Given the description of an element on the screen output the (x, y) to click on. 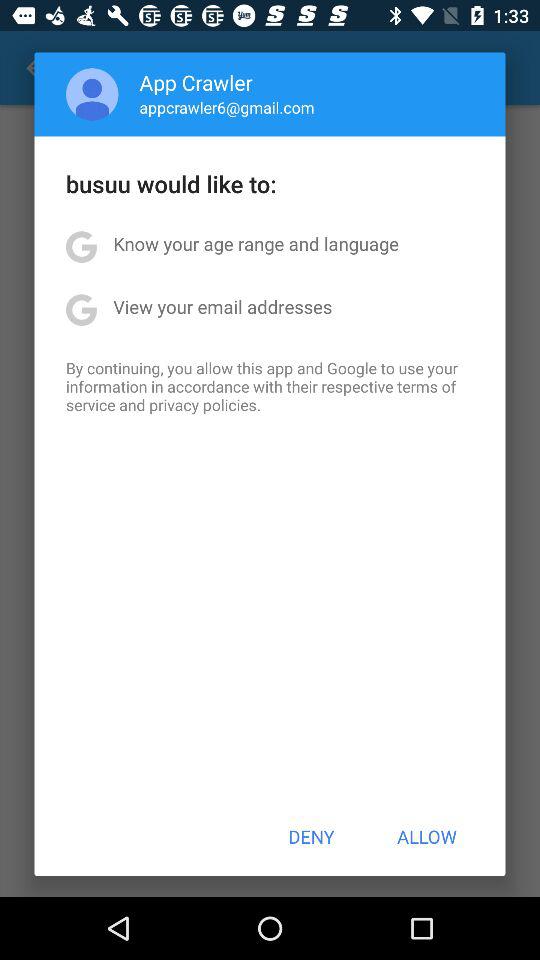
turn off item to the left of the allow button (311, 836)
